Given the description of an element on the screen output the (x, y) to click on. 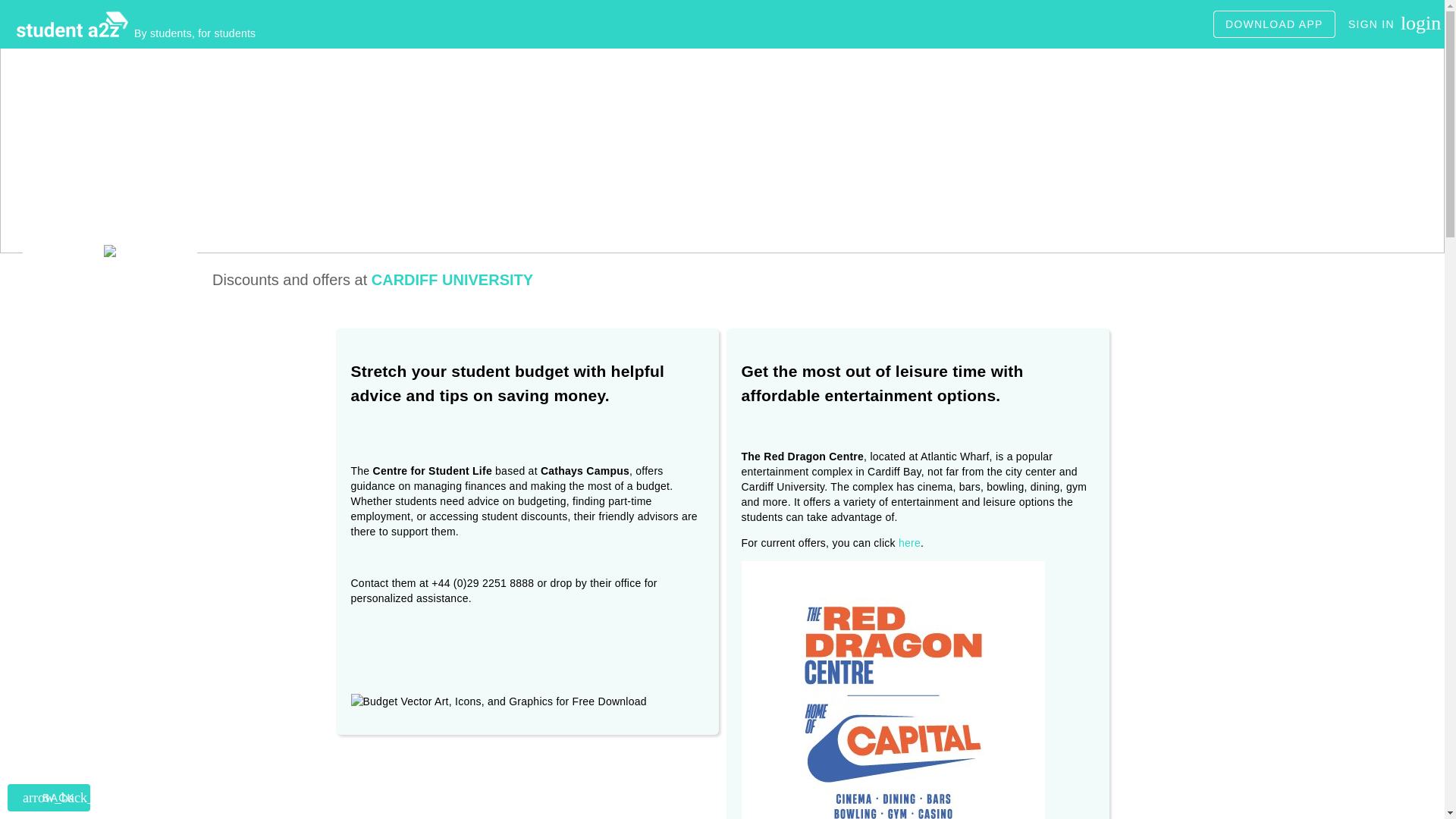
DOWNLOAD APP (1273, 23)
here (909, 542)
CARDIFF UNIVERSITY (1385, 23)
